Given the description of an element on the screen output the (x, y) to click on. 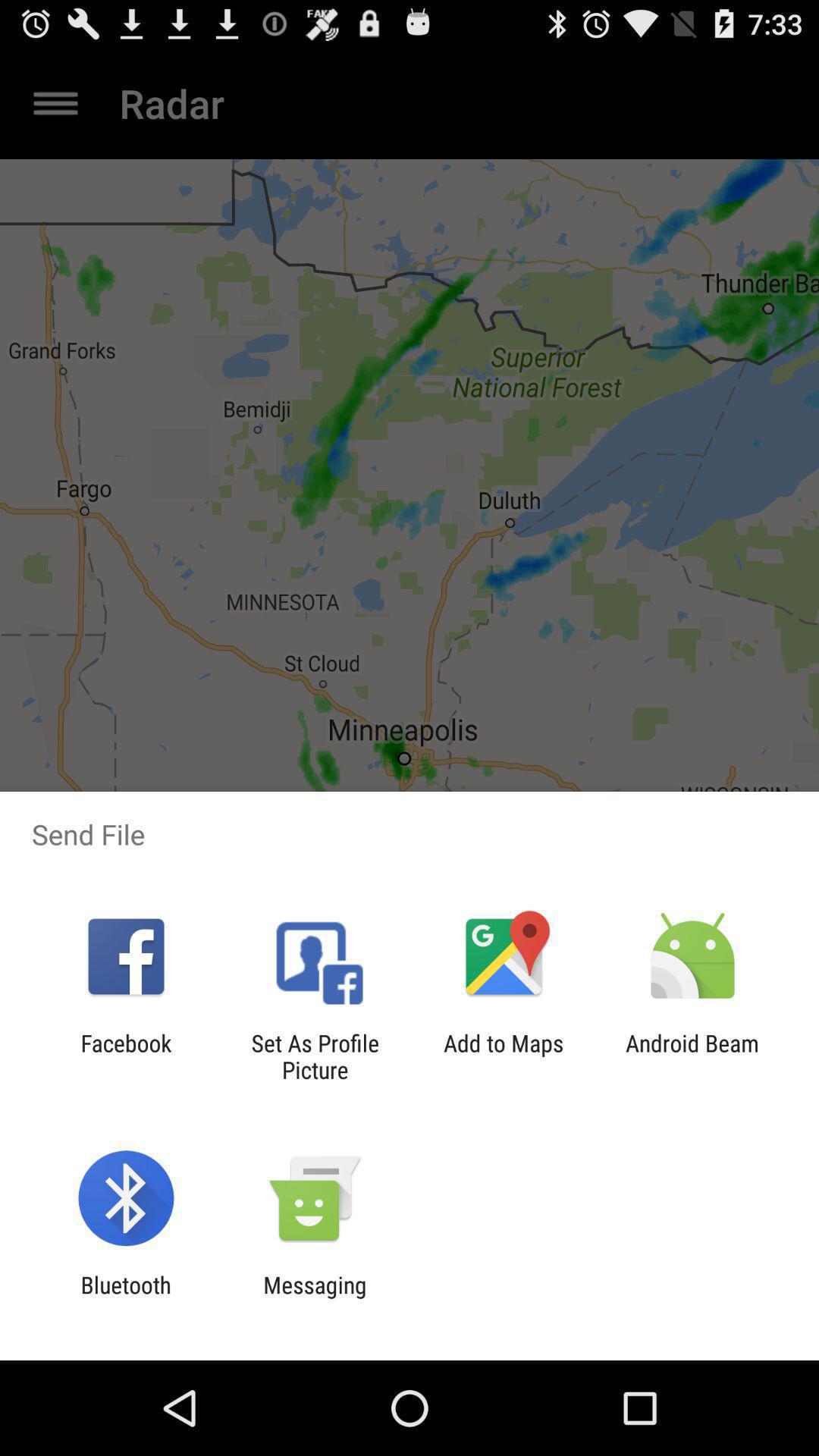
launch item at the bottom right corner (692, 1056)
